Given the description of an element on the screen output the (x, y) to click on. 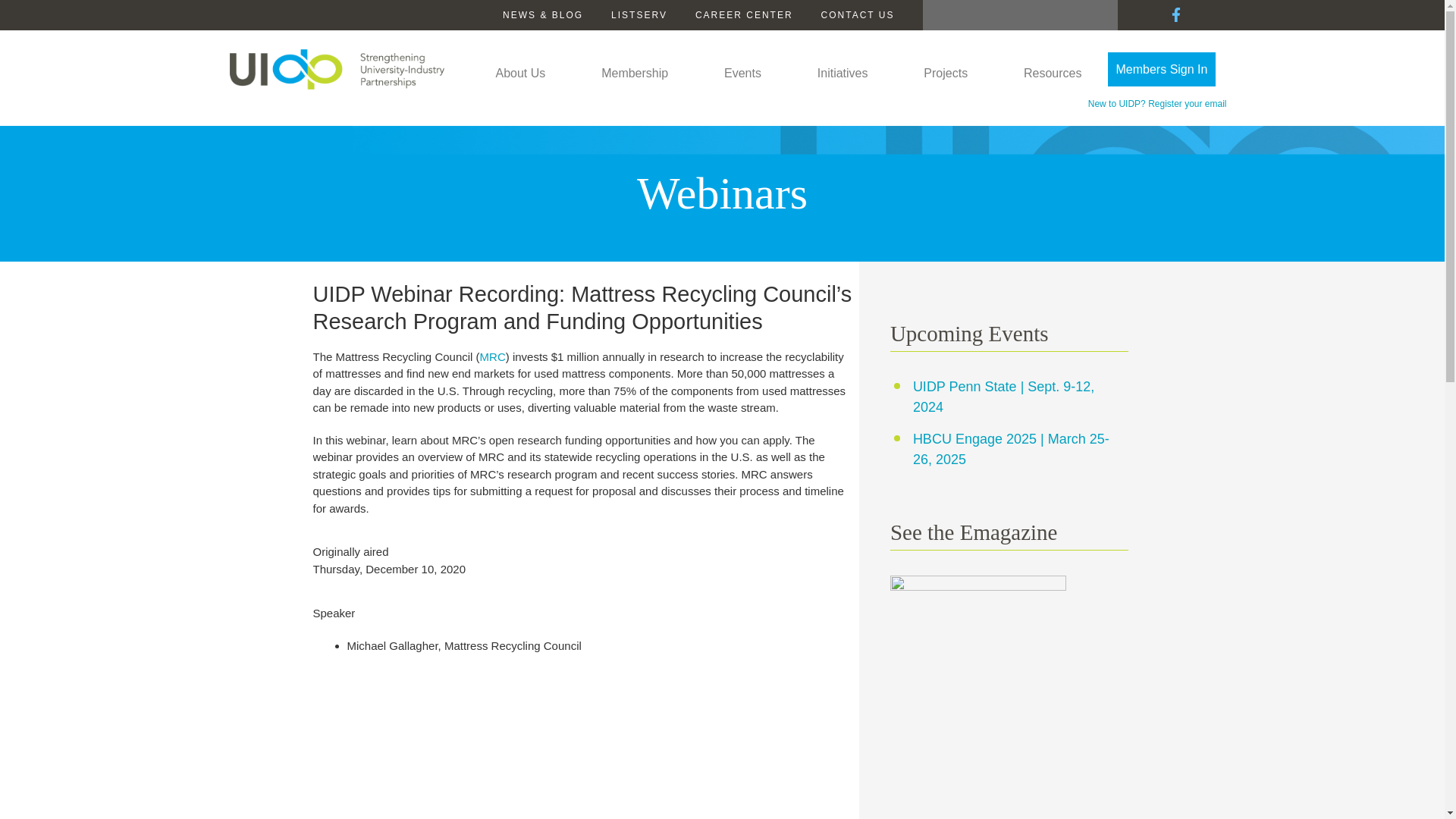
Events (742, 77)
UIDP (336, 69)
Membership (634, 77)
CAREER CENTER (744, 15)
CONTACT US (858, 15)
About Us (521, 77)
LISTSERV (638, 15)
